Given the description of an element on the screen output the (x, y) to click on. 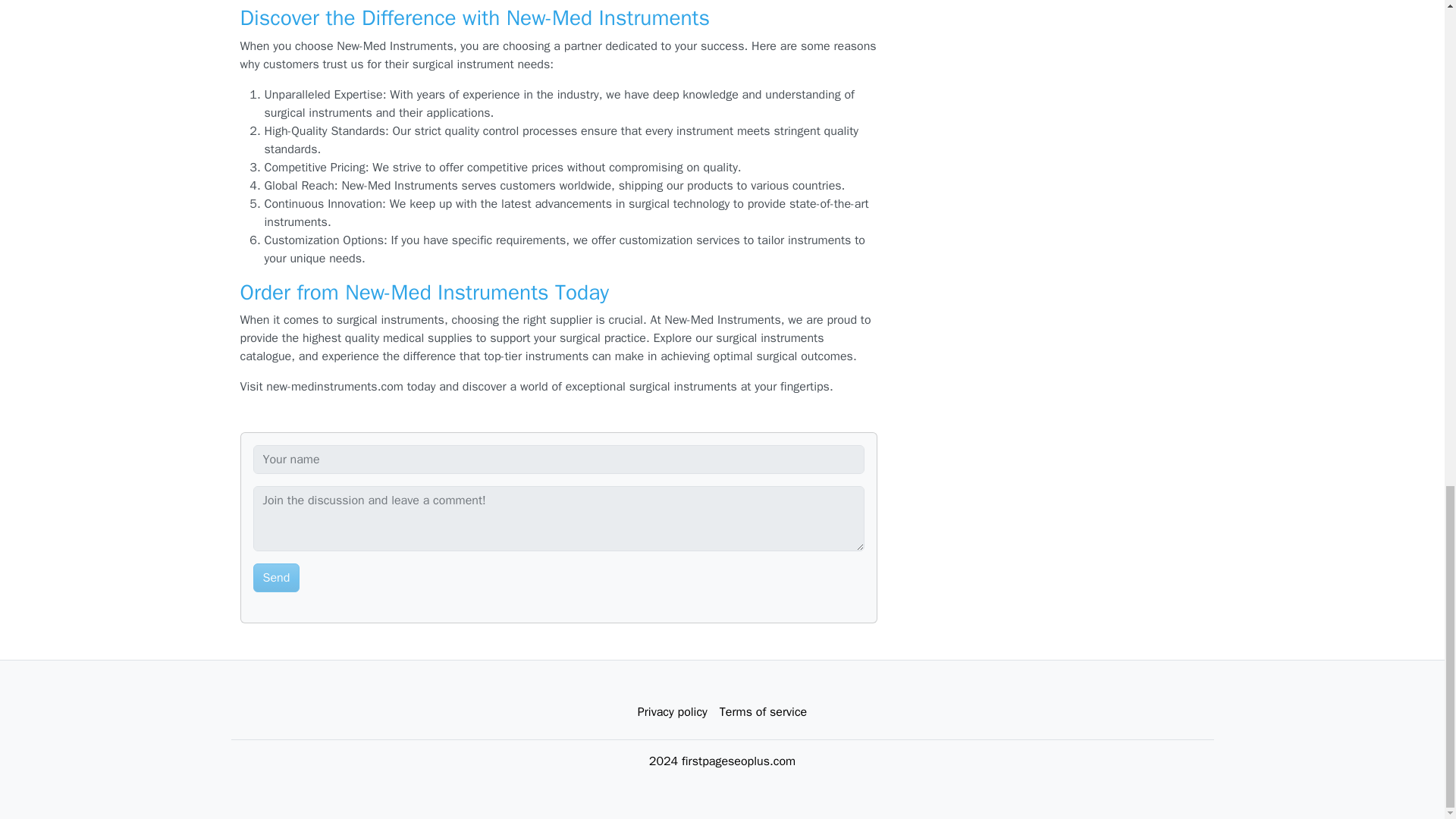
Send (276, 577)
Privacy policy (672, 711)
Terms of service (762, 711)
Send (276, 577)
